Given the description of an element on the screen output the (x, y) to click on. 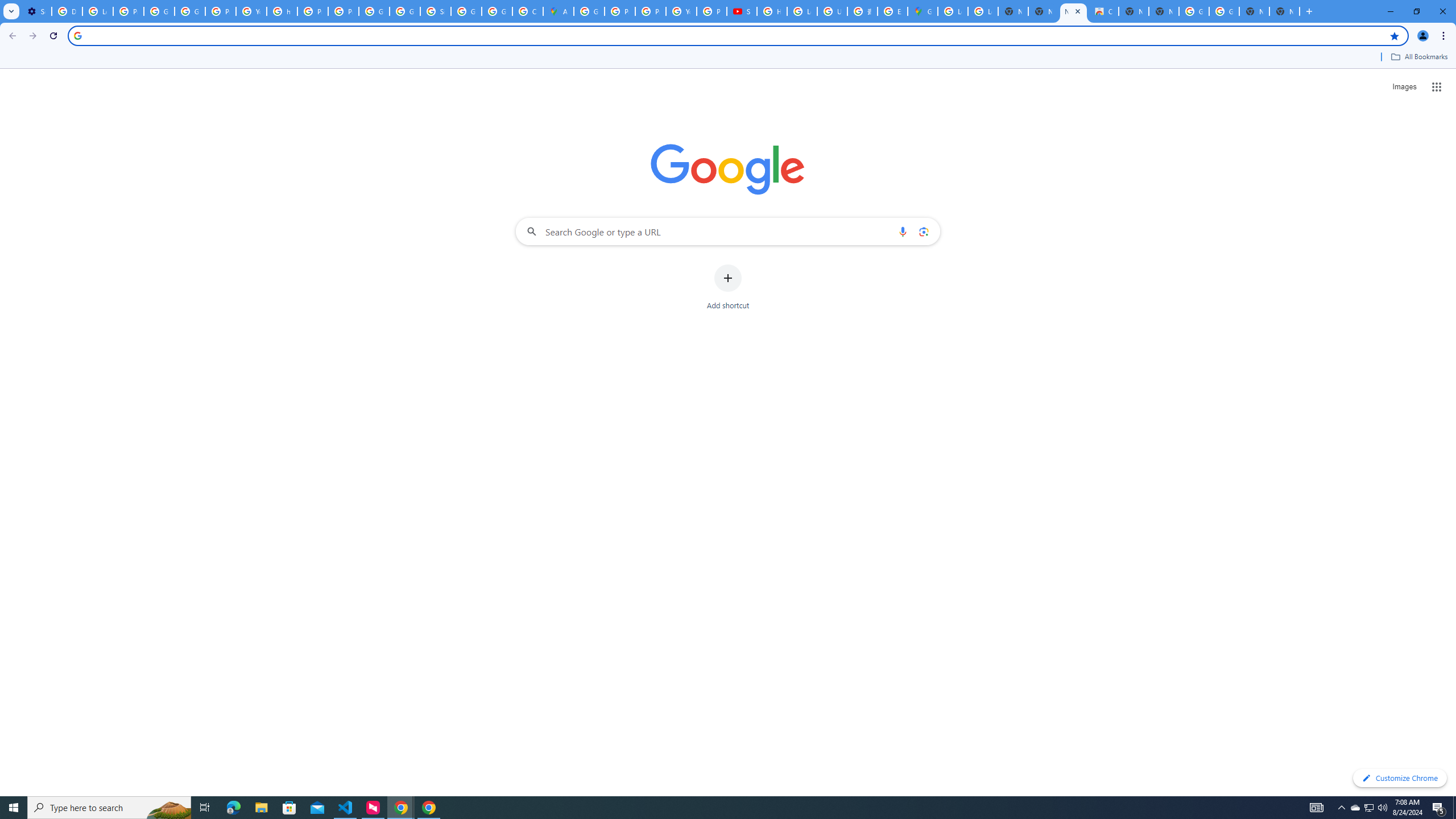
Explore new street-level details - Google Maps Help (892, 11)
